Given the description of an element on the screen output the (x, y) to click on. 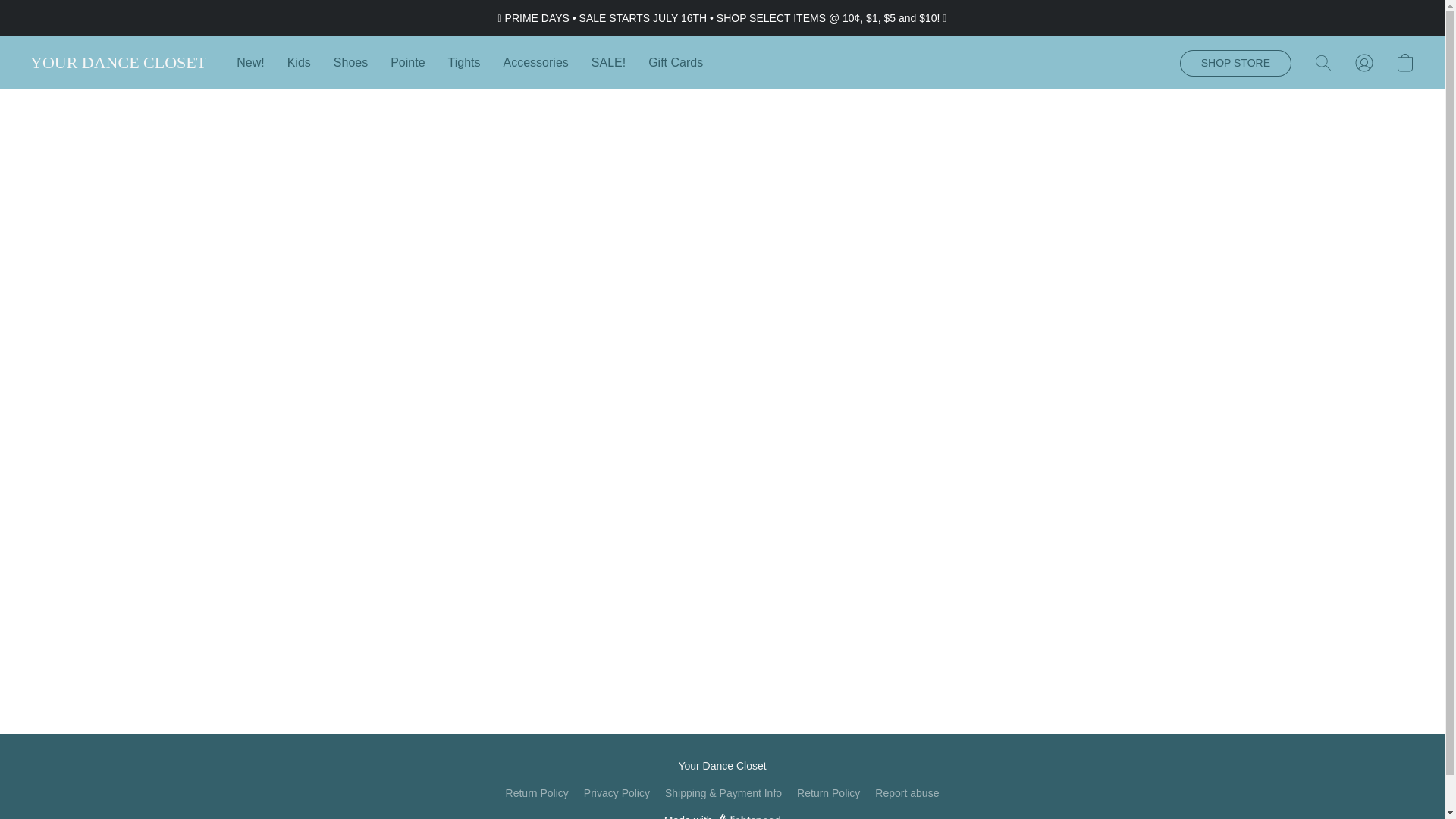
Return Policy (828, 792)
SALE! (608, 62)
Gift Cards (670, 62)
Accessories (535, 62)
Shoes (349, 62)
Tights (464, 62)
YOUR DANCE CLOSET (118, 62)
Go to your shopping cart (1404, 62)
Kids (298, 62)
Pointe (406, 62)
Report abuse (907, 792)
Return Policy (537, 792)
Search the website (1323, 62)
Made with (721, 815)
SHOP STORE (1235, 62)
